Given the description of an element on the screen output the (x, y) to click on. 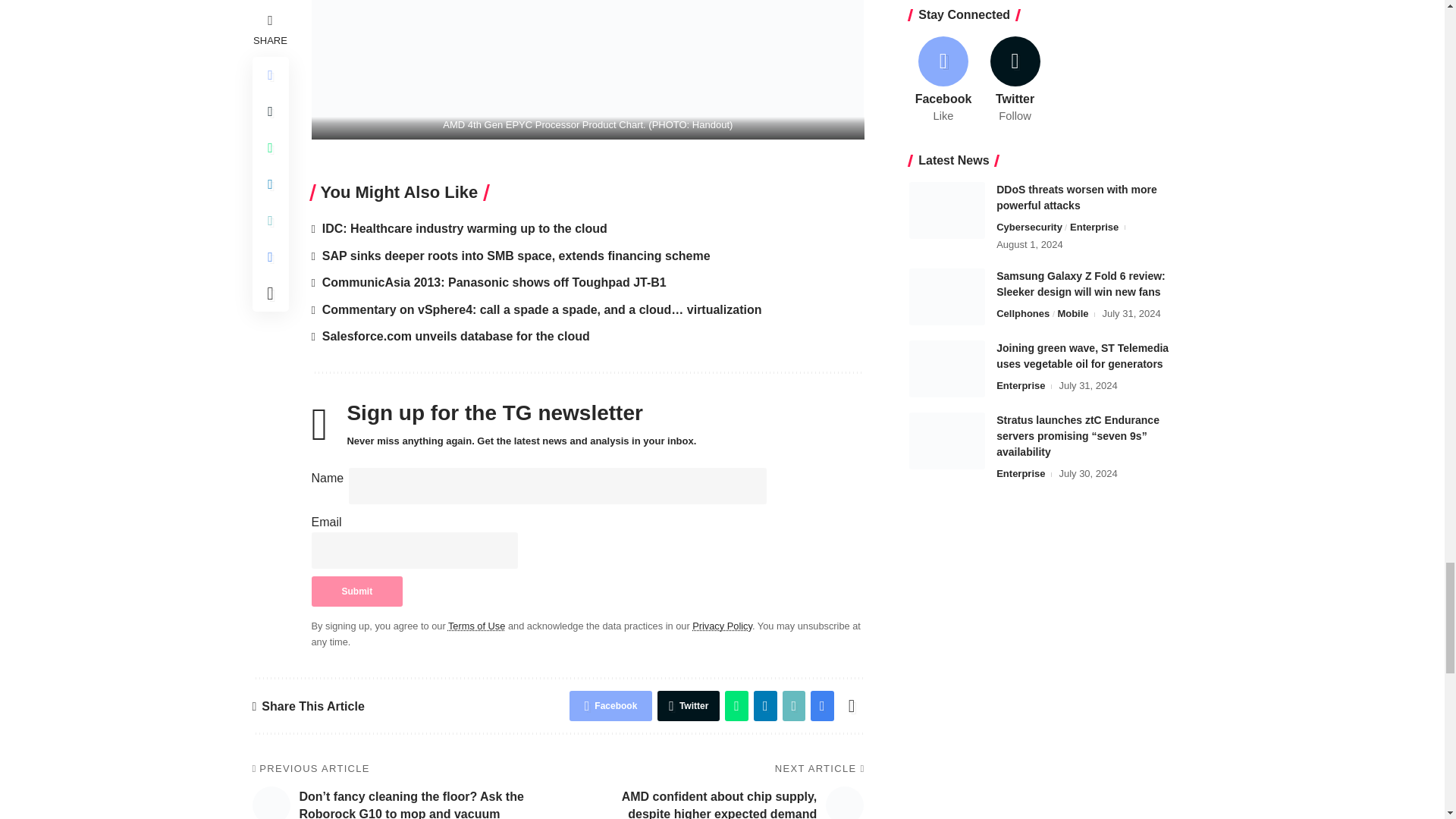
Submit (357, 591)
